Given the description of an element on the screen output the (x, y) to click on. 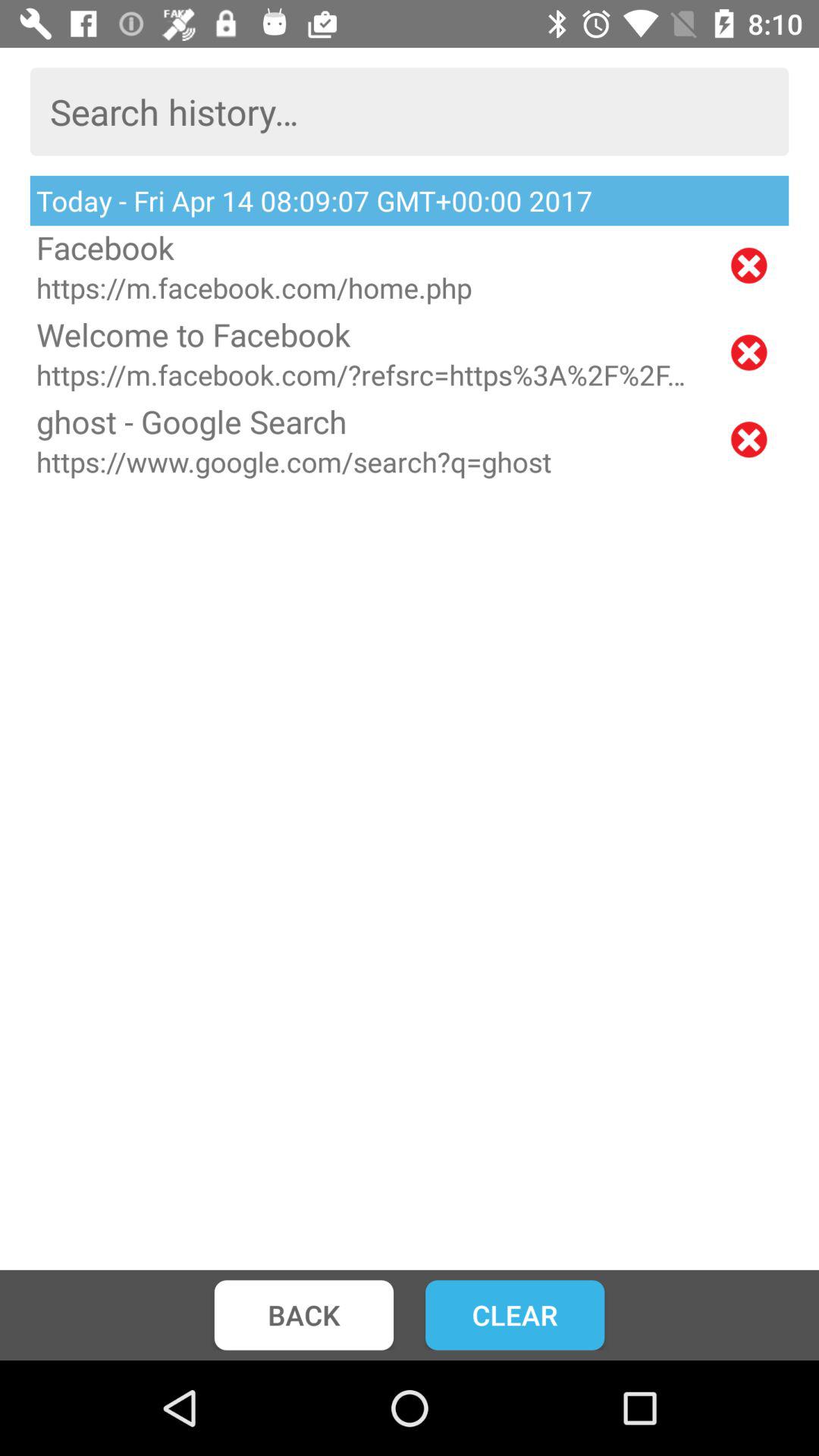
select item to the right of the back icon (514, 1315)
